Given the description of an element on the screen output the (x, y) to click on. 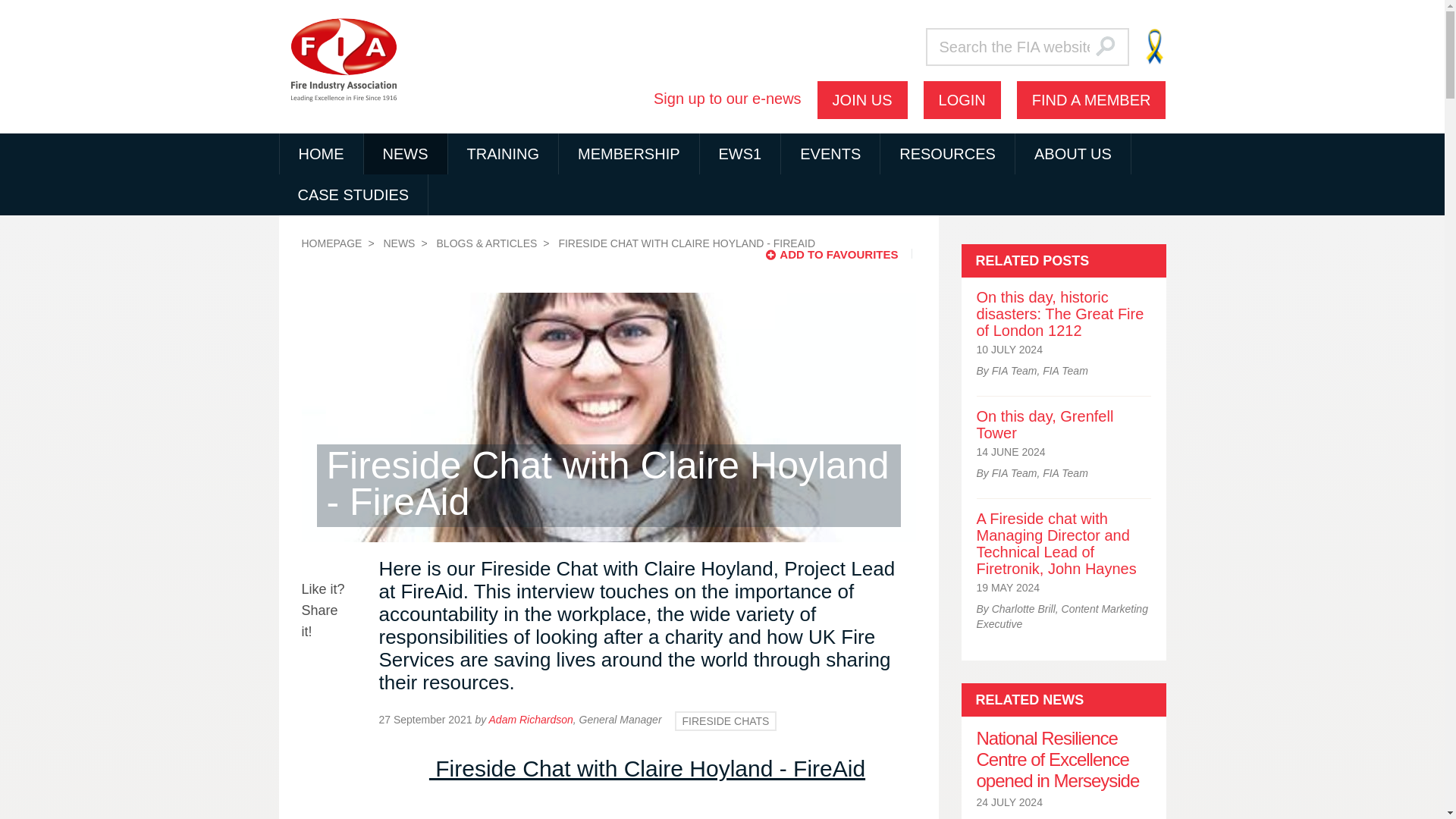
MEMBERSHIP (628, 153)
LOGIN (962, 99)
FIND A MEMBER (1091, 99)
RESOURCES (947, 153)
EWS1 (740, 153)
EVENTS (829, 153)
TRAINING (501, 153)
Sign up to our e-news (727, 98)
NEWS (405, 153)
HOME (320, 153)
JOIN US (861, 99)
